Given the description of an element on the screen output the (x, y) to click on. 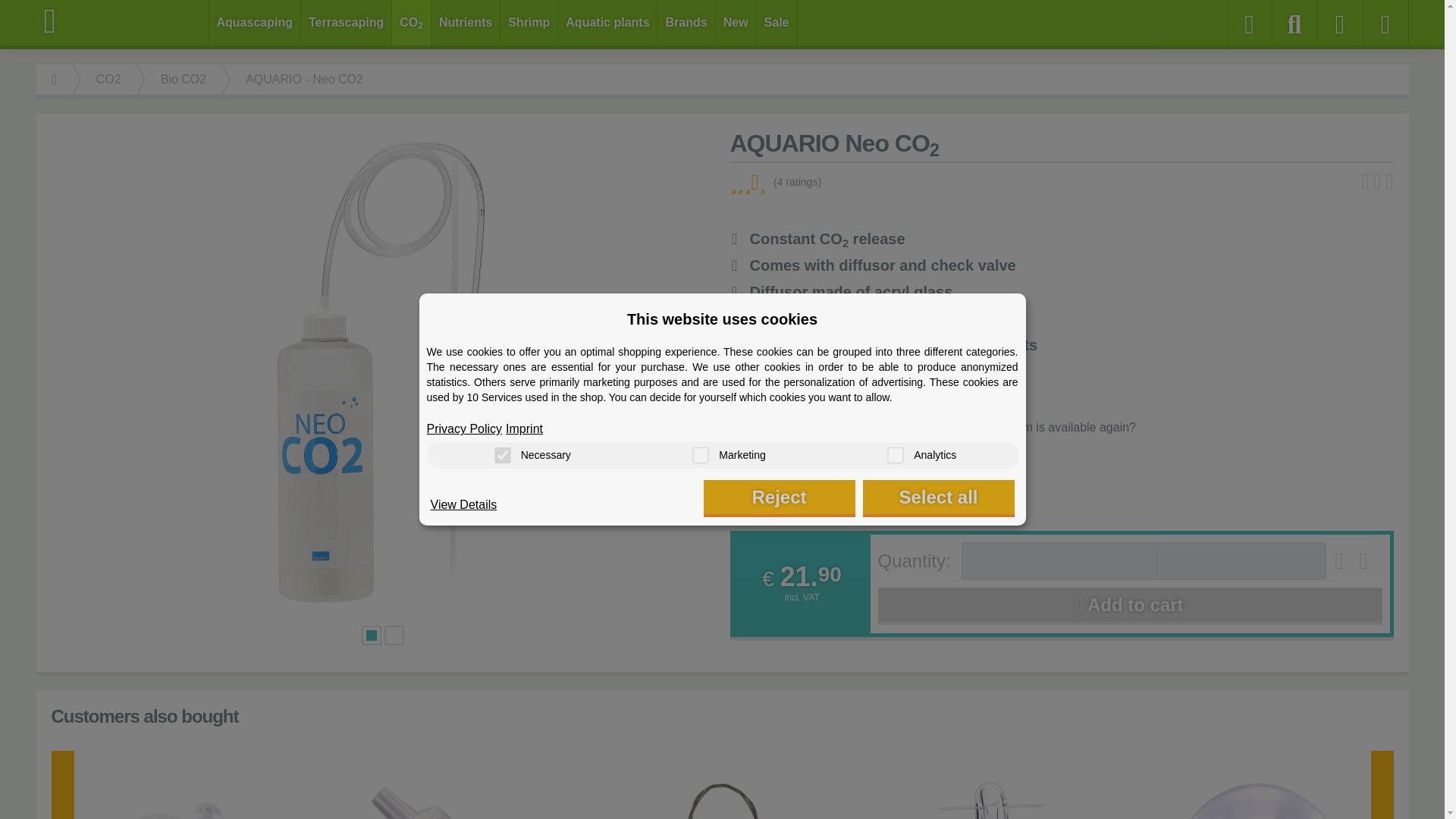
Aquasabi (123, 21)
on (501, 455)
on (699, 455)
Aquascaping (254, 22)
on (895, 455)
